Given the description of an element on the screen output the (x, y) to click on. 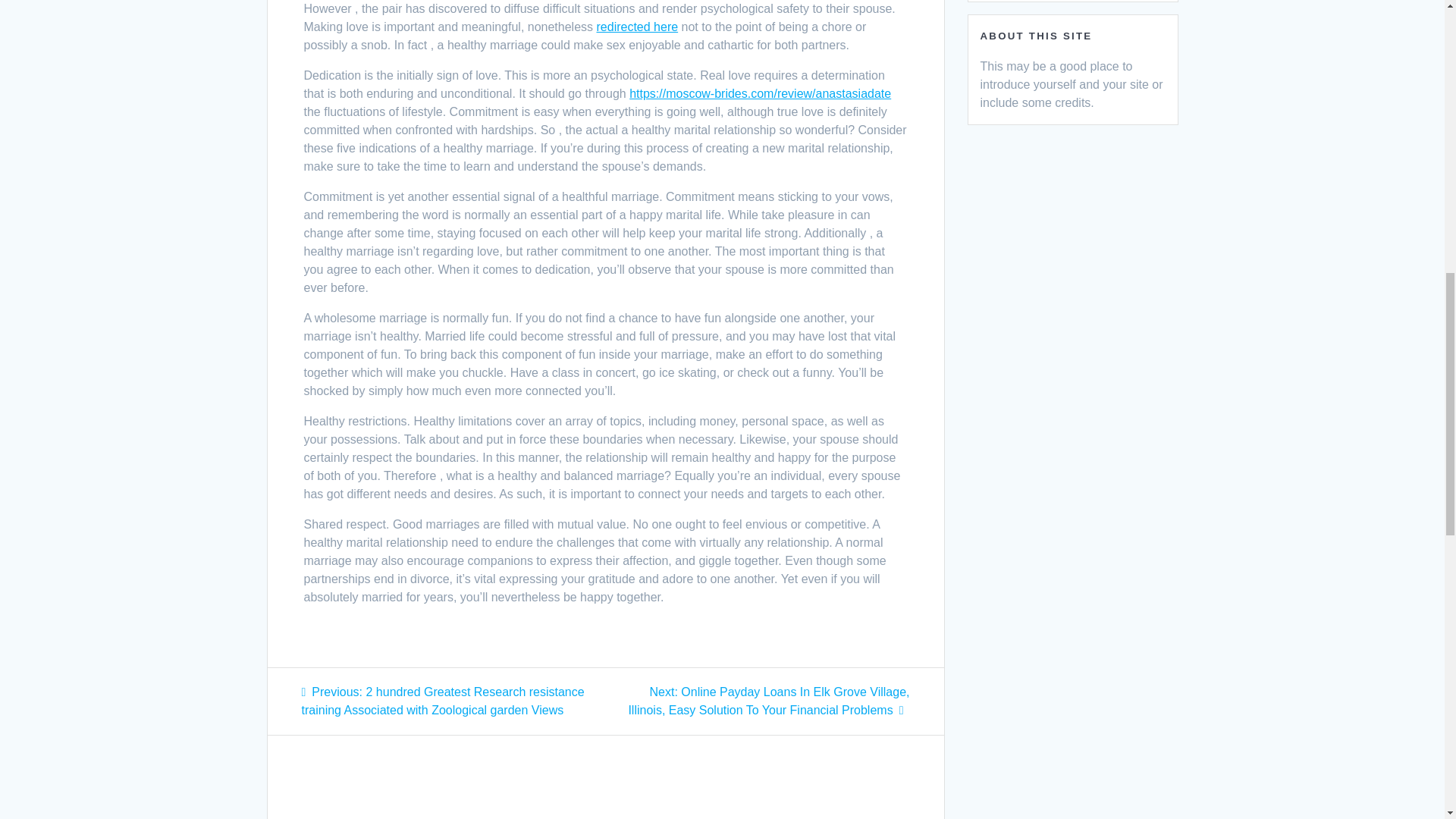
redirected here (636, 26)
